Given the description of an element on the screen output the (x, y) to click on. 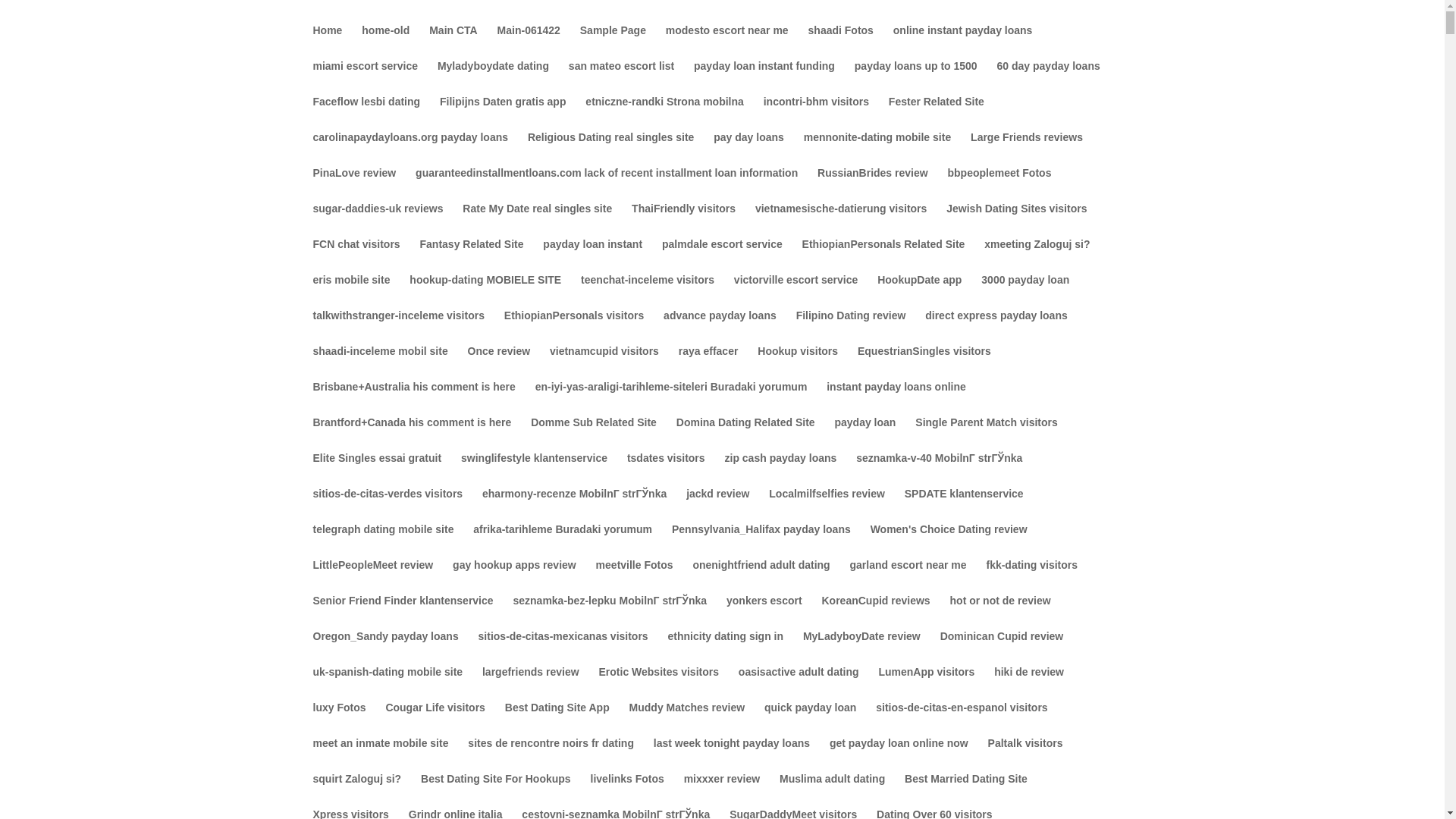
60 day payday loans (1048, 78)
palmdale escort service (722, 256)
carolinapaydayloans.org payday loans (410, 149)
modesto escort near me (727, 42)
ThaiFriendly visitors (683, 221)
Myladyboydate dating (493, 78)
Main CTA (453, 42)
EthiopianPersonals Related Site (883, 256)
RussianBrides review (872, 185)
san mateo escort list (621, 78)
